Given the description of an element on the screen output the (x, y) to click on. 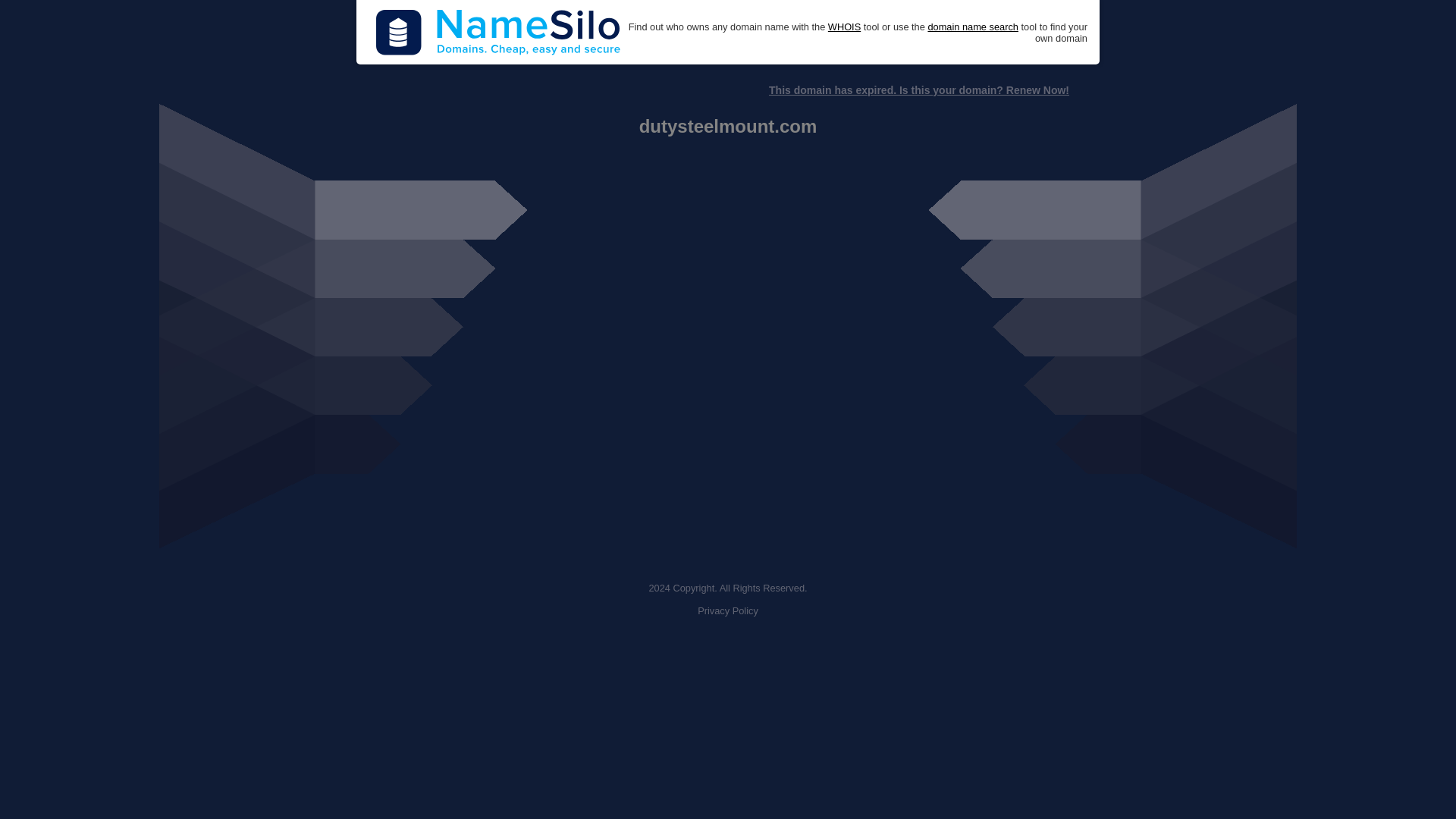
This domain has expired. Is this your domain? Renew Now! (918, 90)
WHOIS (844, 26)
Privacy Policy (727, 610)
domain name search (972, 26)
